Given the description of an element on the screen output the (x, y) to click on. 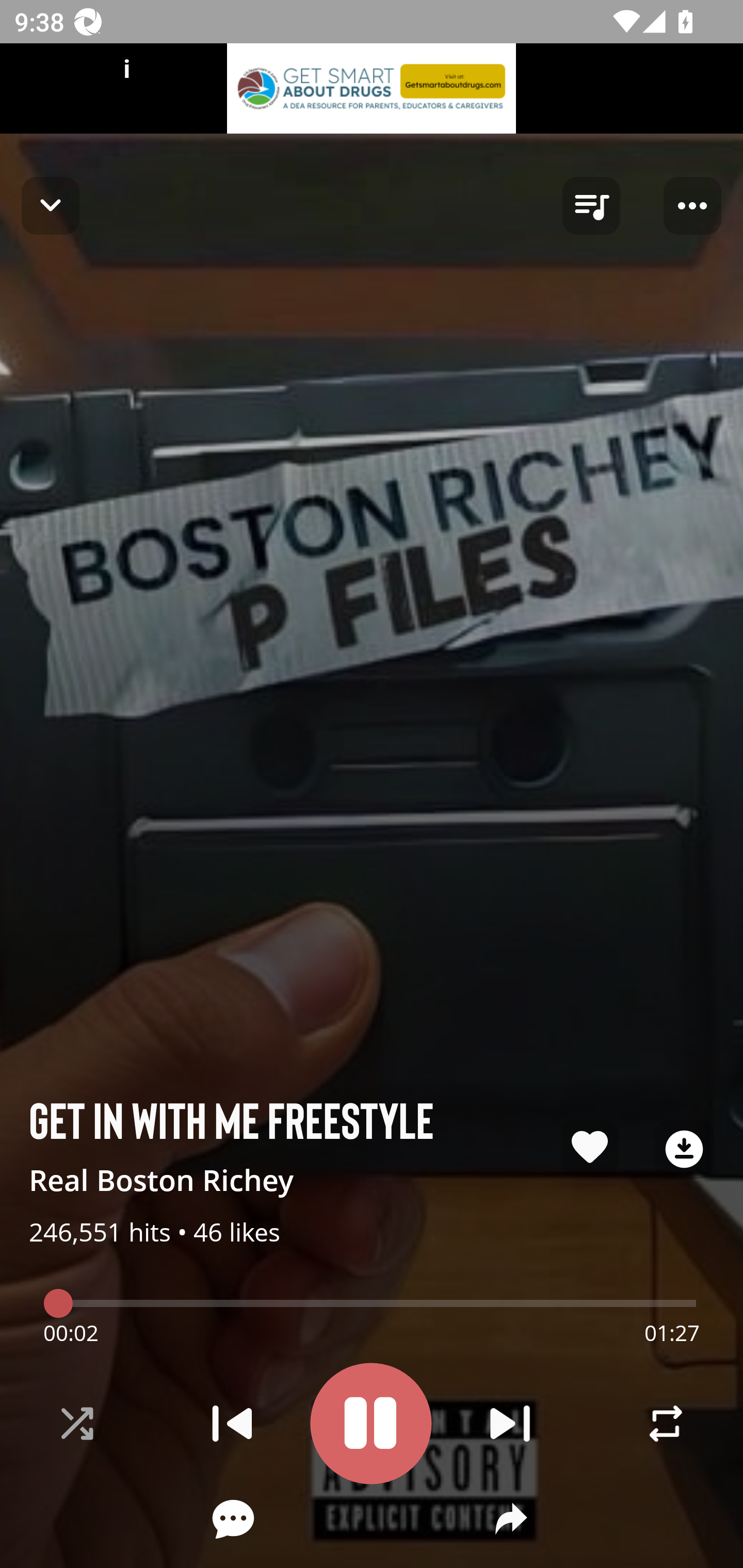
Navigate up (50, 205)
queue (590, 206)
Player options (692, 206)
